Given the description of an element on the screen output the (x, y) to click on. 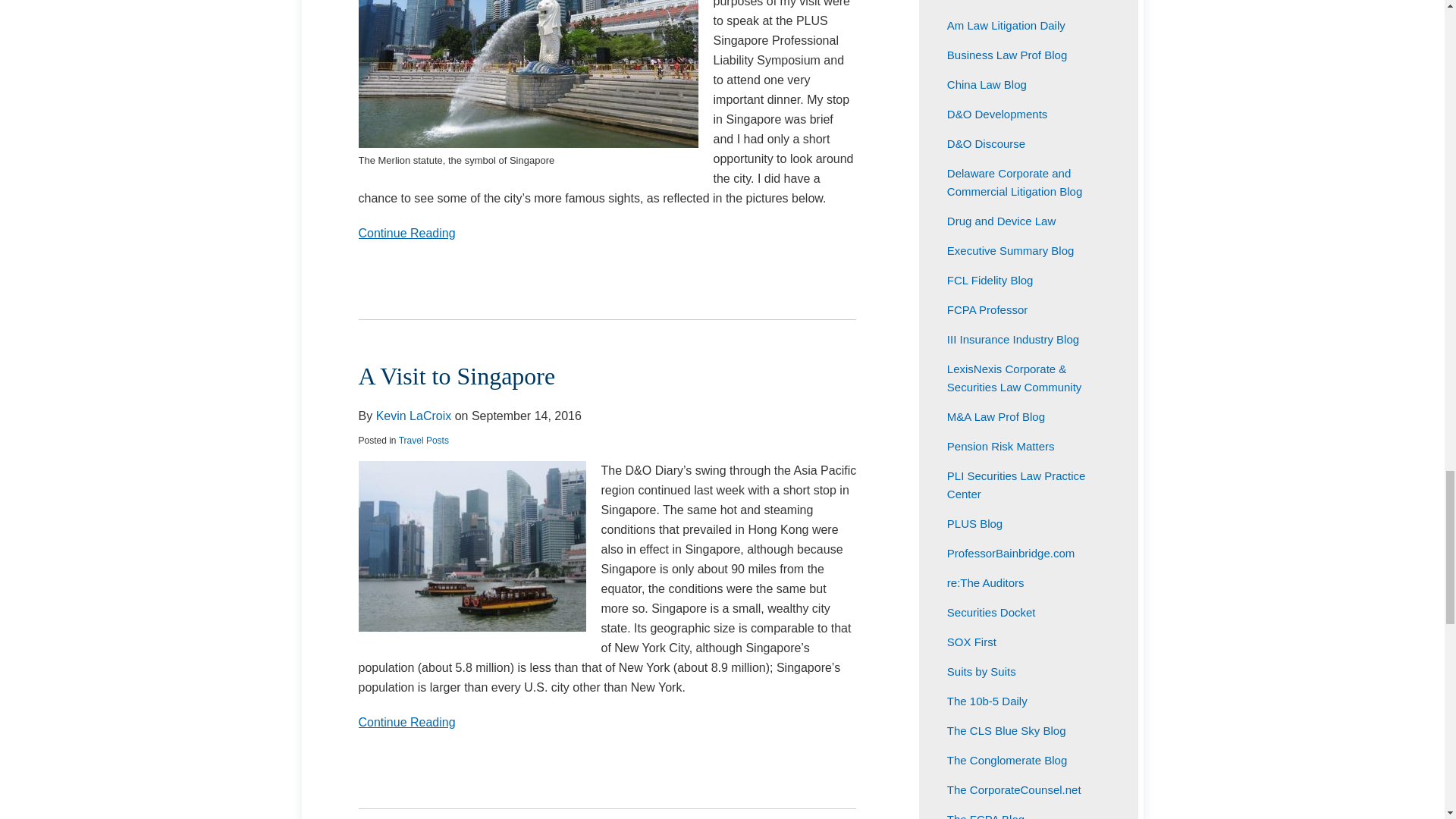
A Visit to Singapore (607, 722)
Kevin LaCroix (456, 375)
Travel Posts (413, 415)
